Given the description of an element on the screen output the (x, y) to click on. 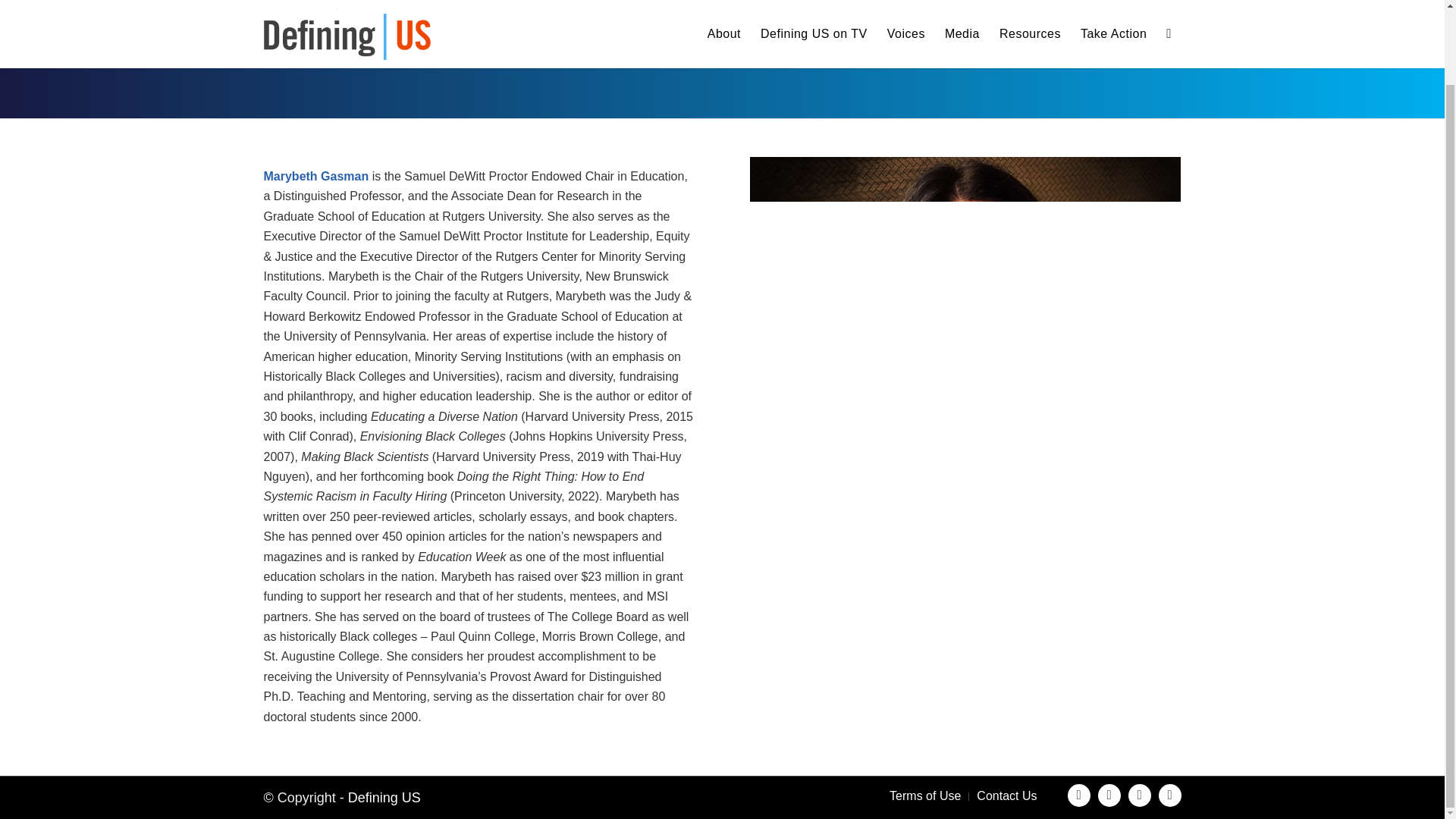
Instagram (1109, 794)
X (1139, 794)
Defining US (383, 797)
LinkedIn (1169, 794)
Marybeth (964, 299)
Facebook (1078, 794)
